Given the description of an element on the screen output the (x, y) to click on. 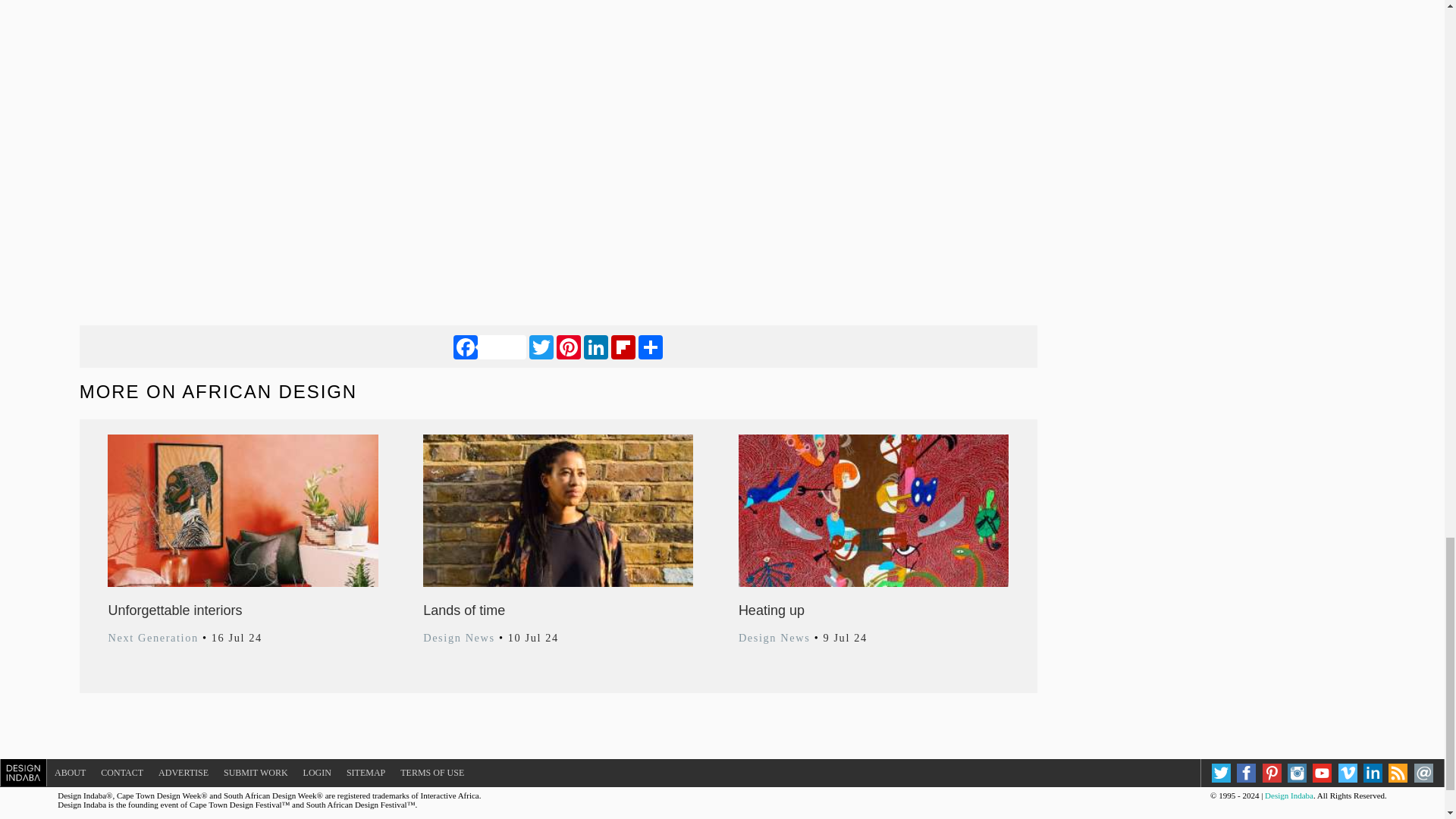
Flipboard (622, 345)
Pinterest (568, 345)
Twitter (541, 345)
Facebook (488, 345)
LinkedIn (595, 345)
